Given the description of an element on the screen output the (x, y) to click on. 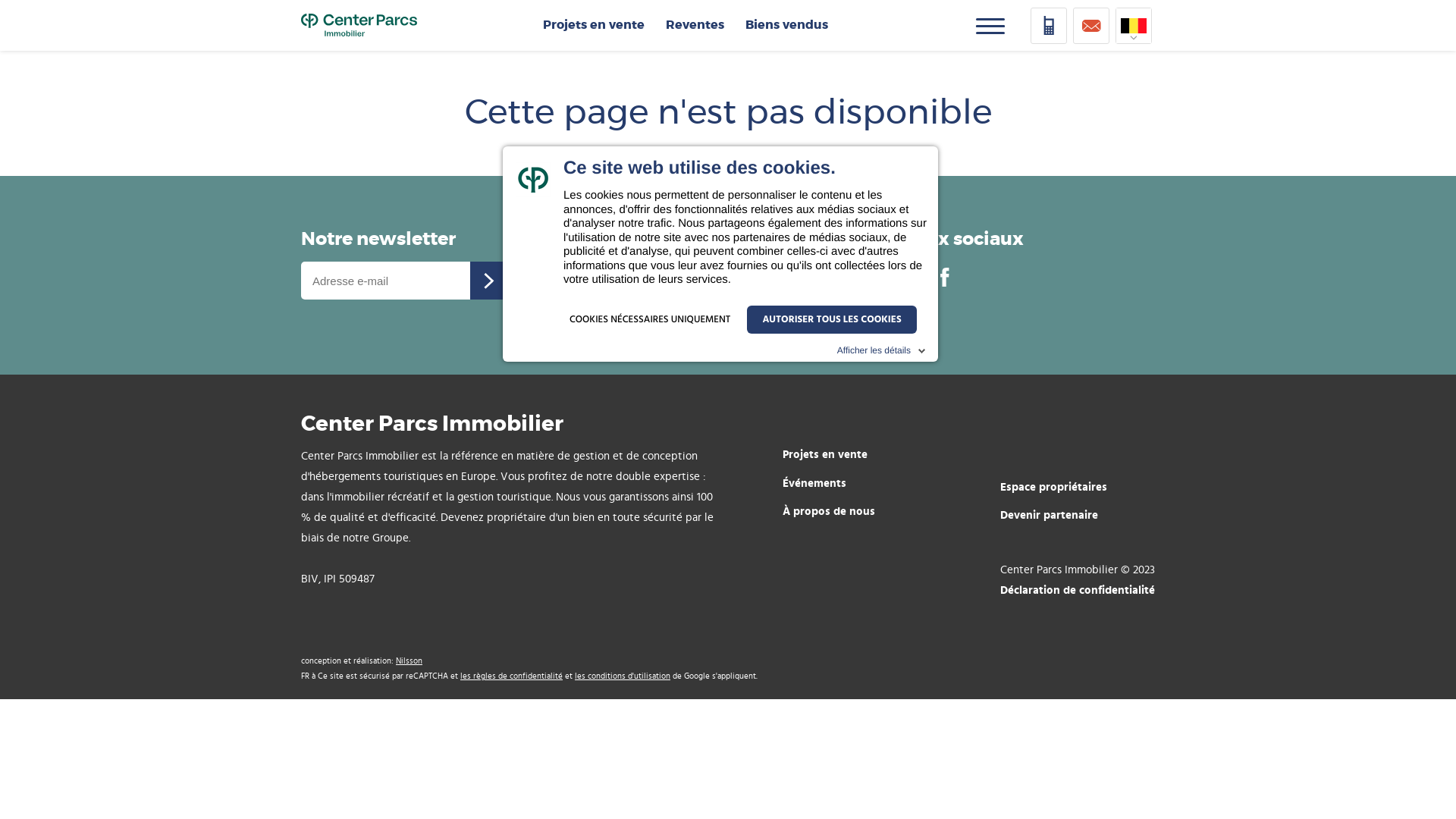
+32 (0)11 61 63 00 Element type: text (701, 296)
Biens vendus Element type: text (785, 24)
Projets en vente Element type: text (838, 454)
Reventes Element type: text (694, 24)
Youtube Element type: text (885, 276)
Home Element type: text (359, 24)
Projets en vente Element type: text (593, 24)
les conditions d'utilisation Element type: text (622, 675)
Nilsson Element type: text (408, 660)
Appelez un de nos conseillers Element type: text (701, 251)
Devenir partenaire Element type: text (1069, 515)
Facebook Element type: text (944, 276)
Linked In Element type: text (914, 276)
AUTORISER TOUS LES COOKIES Element type: text (831, 319)
